Given the description of an element on the screen output the (x, y) to click on. 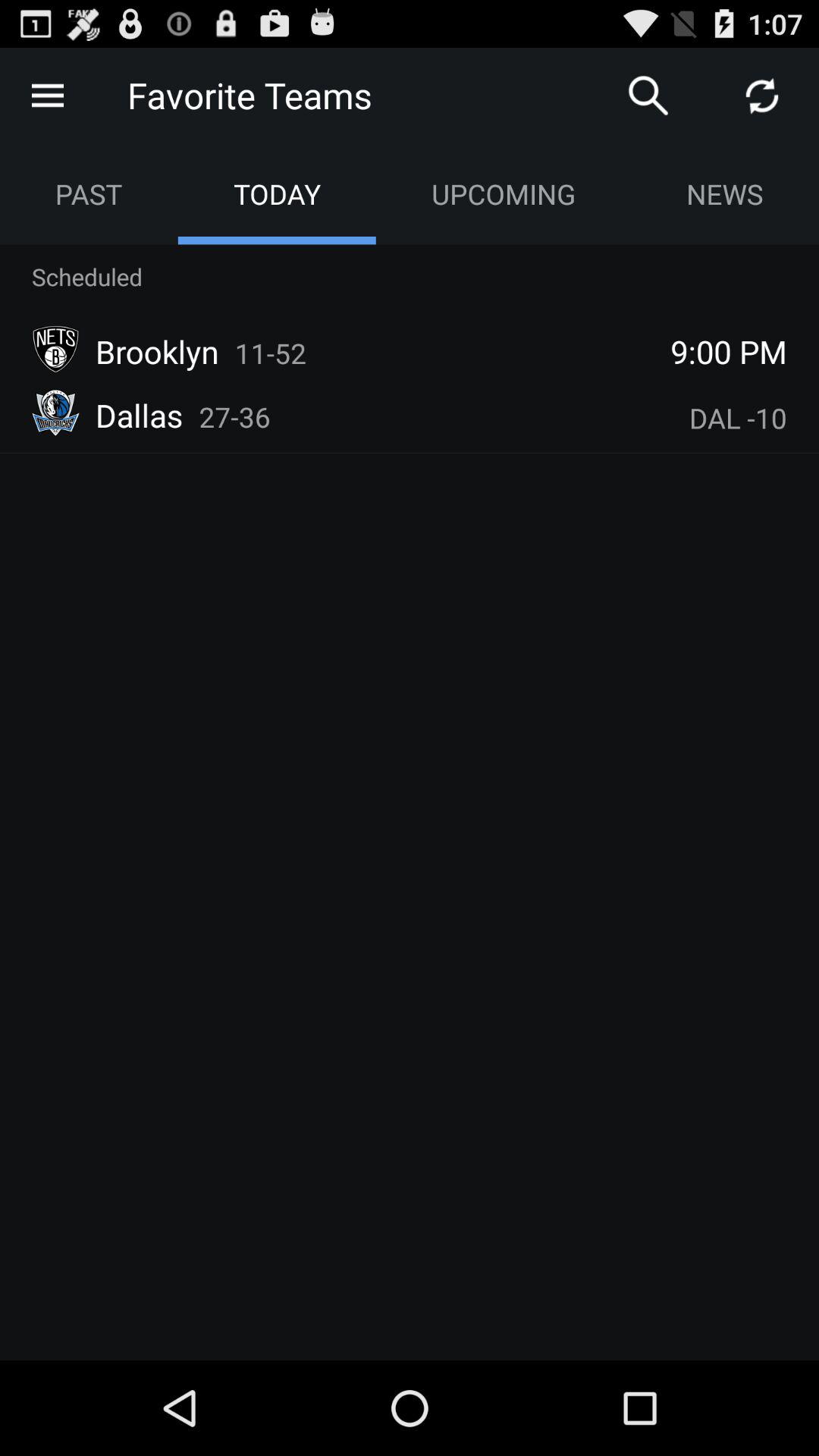
view menu (47, 95)
